Given the description of an element on the screen output the (x, y) to click on. 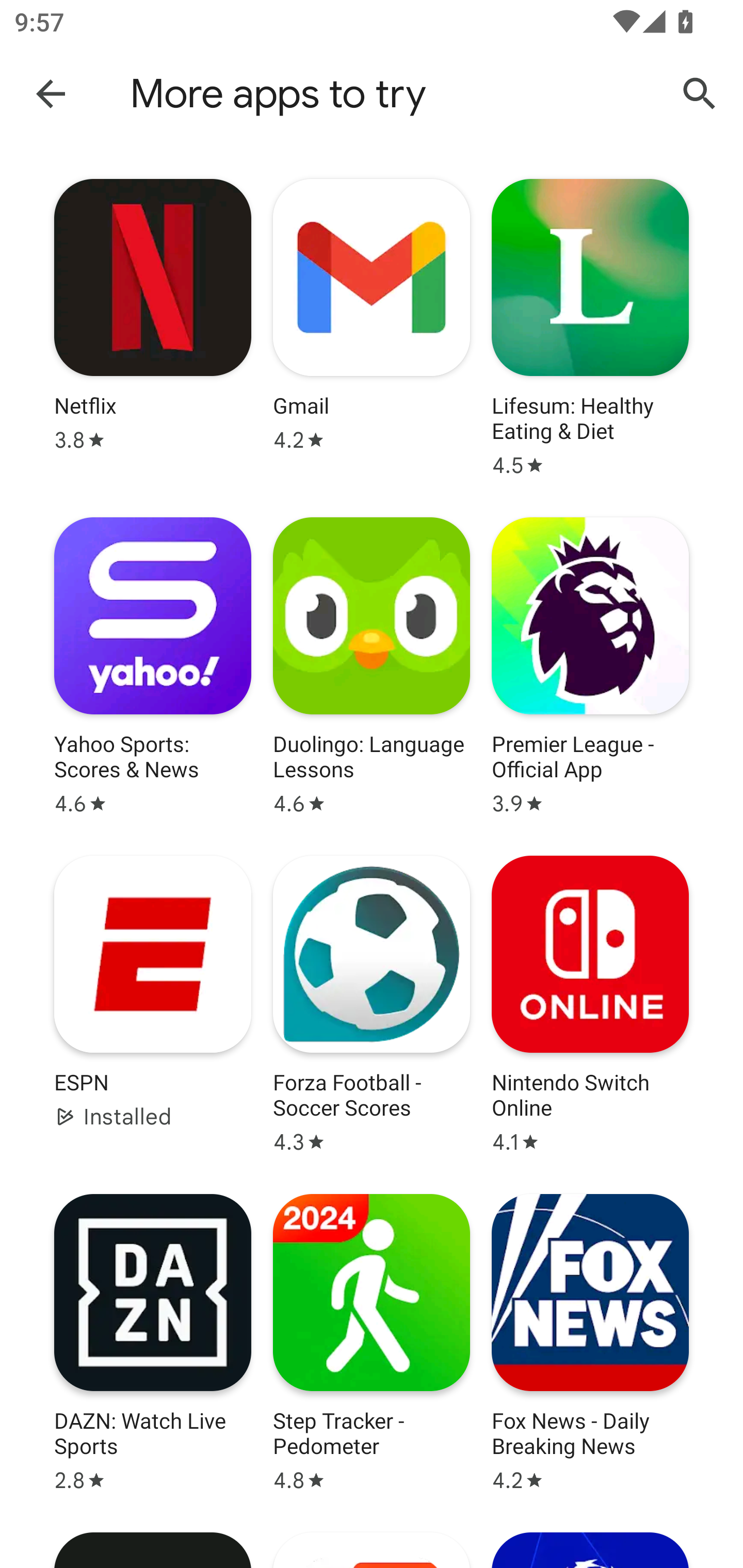
Navigate up (50, 92)
Search Google Play (699, 93)
App: Netflix
Star rating: 3.8


 (152, 328)
App: Gmail
Star rating: 4.2


 (371, 328)
App: ESPN
Installed

 (152, 1003)
App: Nintendo Switch Online
Star rating: 4.1


 (589, 1003)
App: DAZN: Watch Live Sports
Star rating: 2.8


 (152, 1342)
App: Step Tracker - Pedometer
Star rating: 4.8


 (371, 1342)
